Given the description of an element on the screen output the (x, y) to click on. 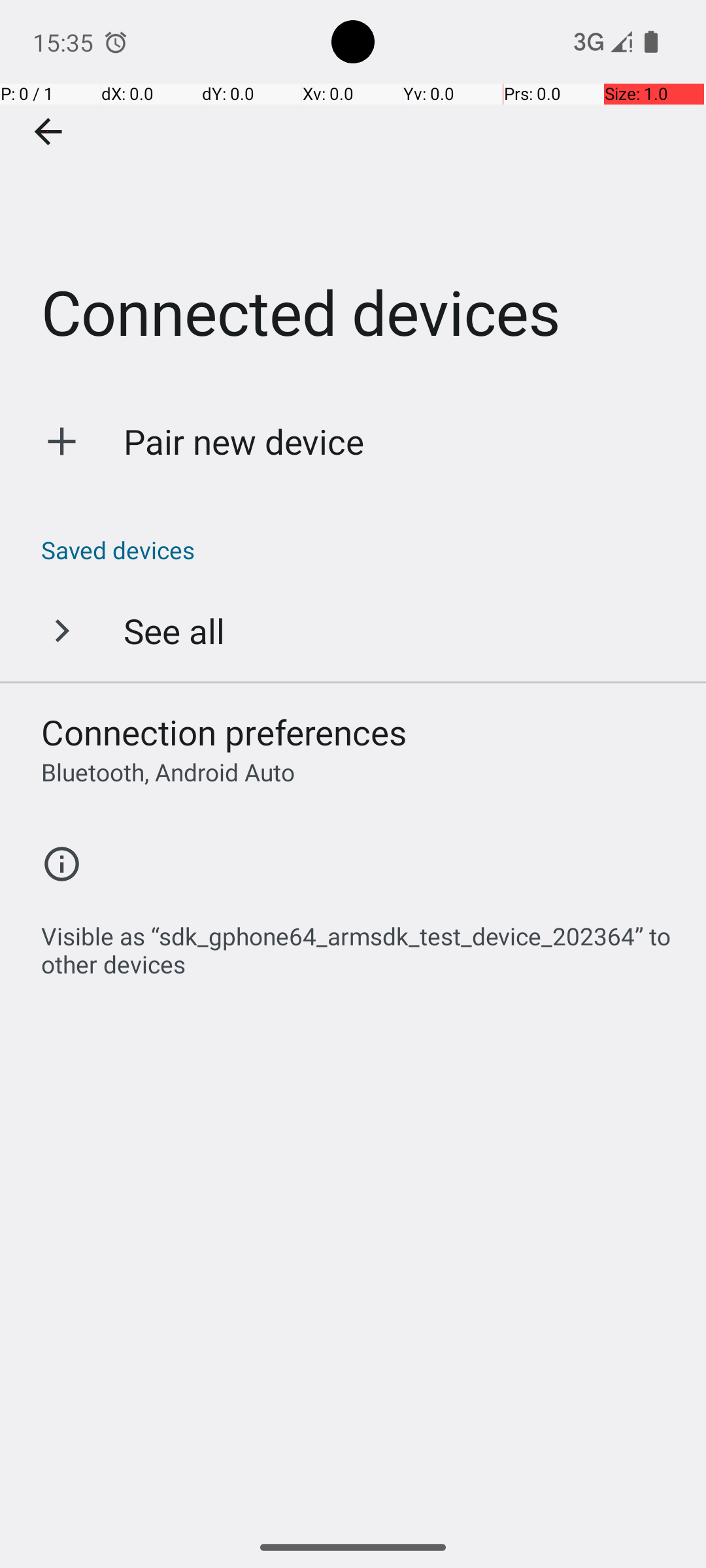
Visible as “sdk_gphone64_armsdk_test_device_202364” to other devices Element type: android.widget.TextView (359, 942)
